Given the description of an element on the screen output the (x, y) to click on. 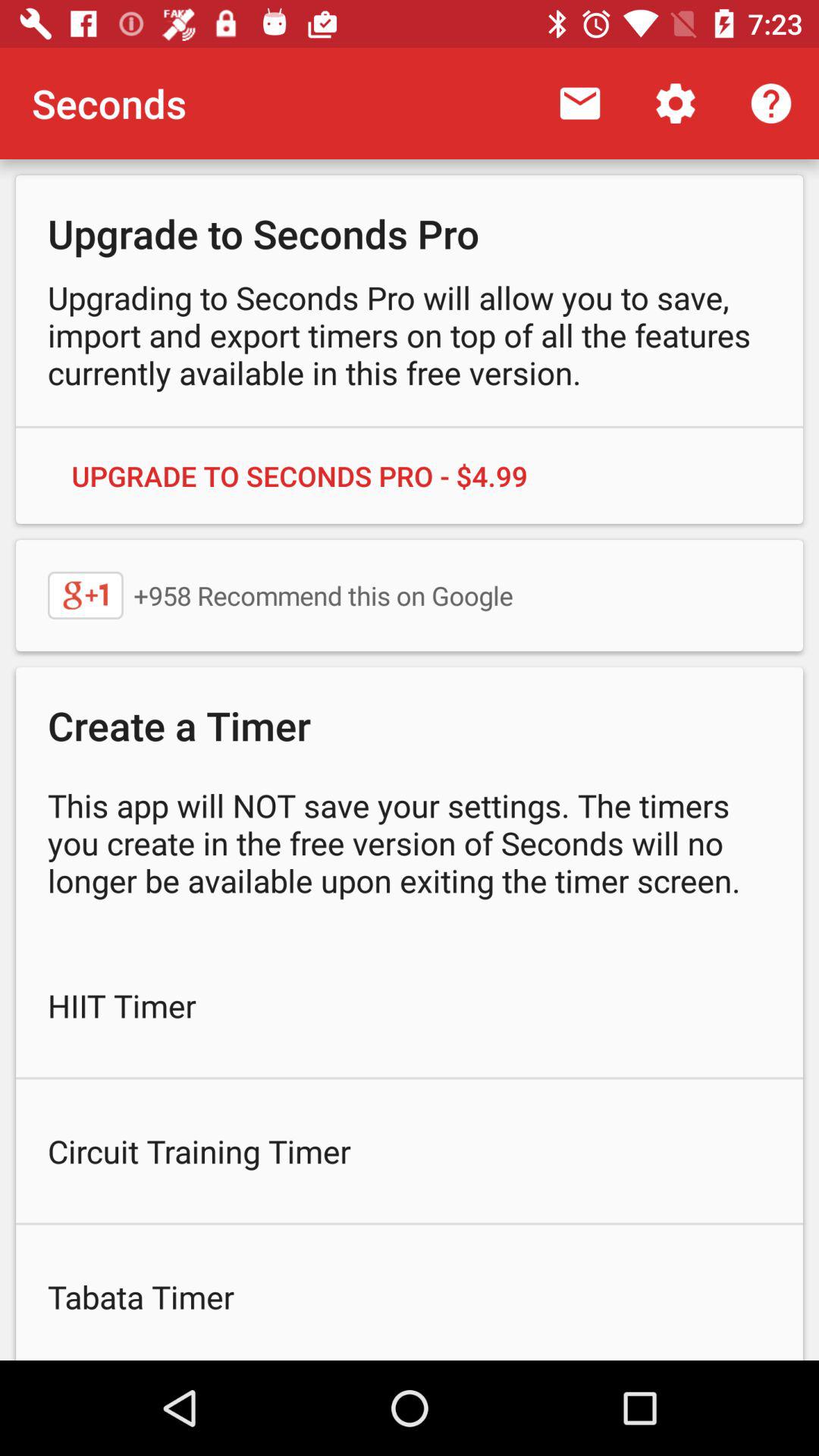
turn off hiit timer icon (409, 1005)
